Given the description of an element on the screen output the (x, y) to click on. 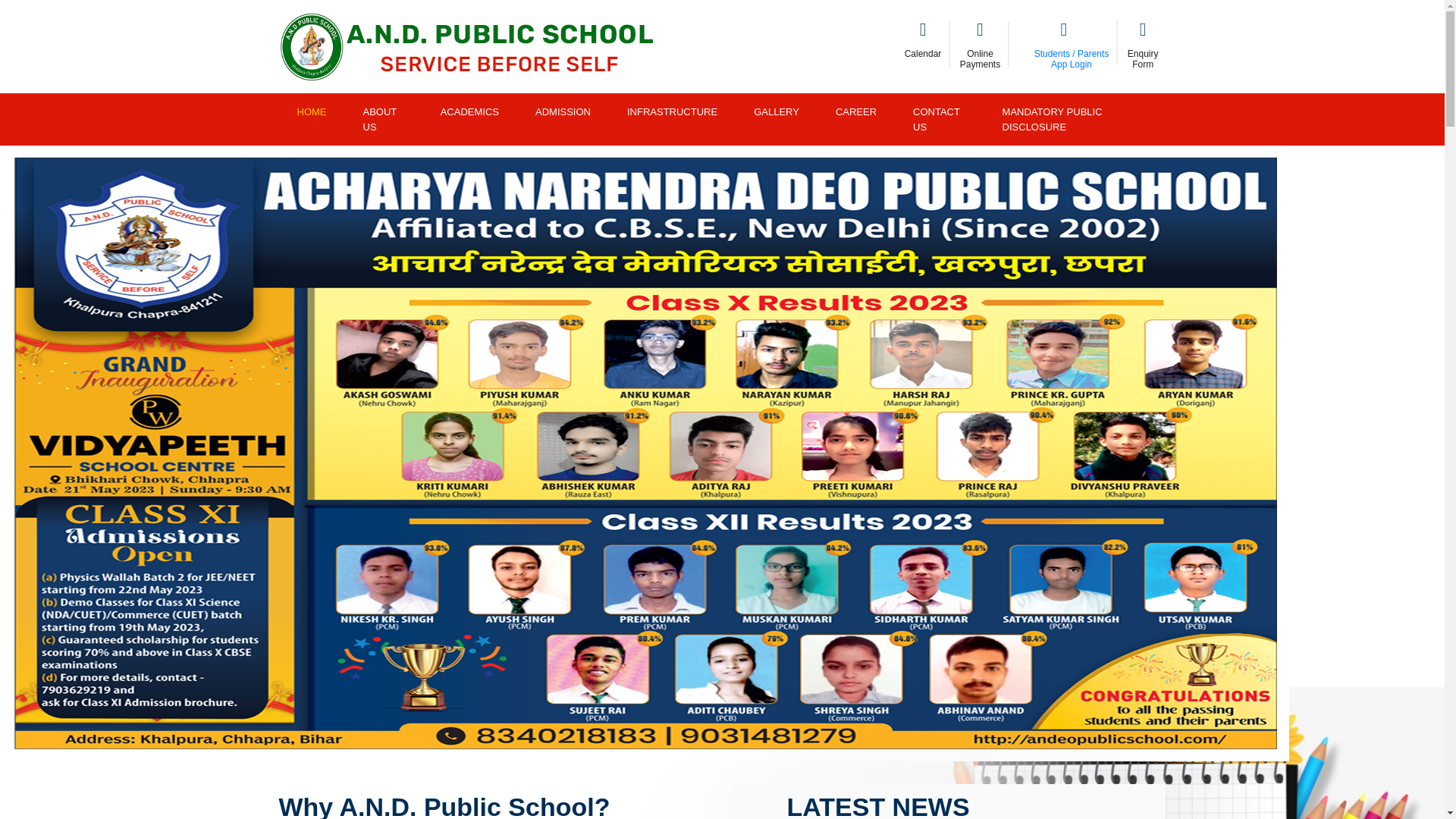
HOME (1142, 45)
INFRASTRUCTURE (312, 112)
ACADEMICS (671, 112)
ADMISSION (979, 45)
Calendar (469, 112)
ABOUT US (562, 112)
